Given the description of an element on the screen output the (x, y) to click on. 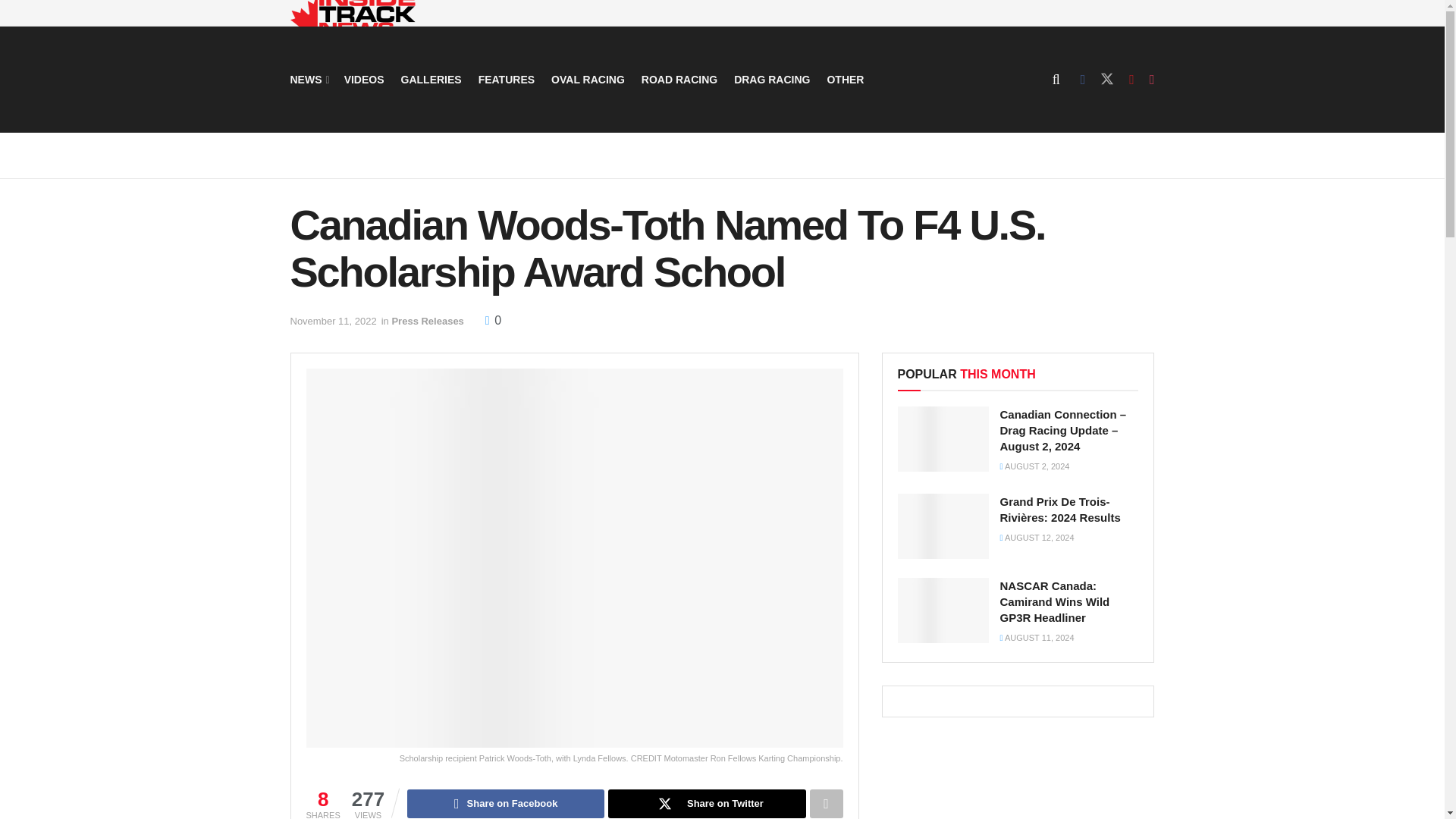
OTHER (845, 79)
DRAG RACING (771, 79)
ROAD RACING (679, 79)
FEATURES (506, 79)
NEWS (307, 79)
OVAL RACING (587, 79)
GALLERIES (431, 79)
VIDEOS (363, 79)
